Given the description of an element on the screen output the (x, y) to click on. 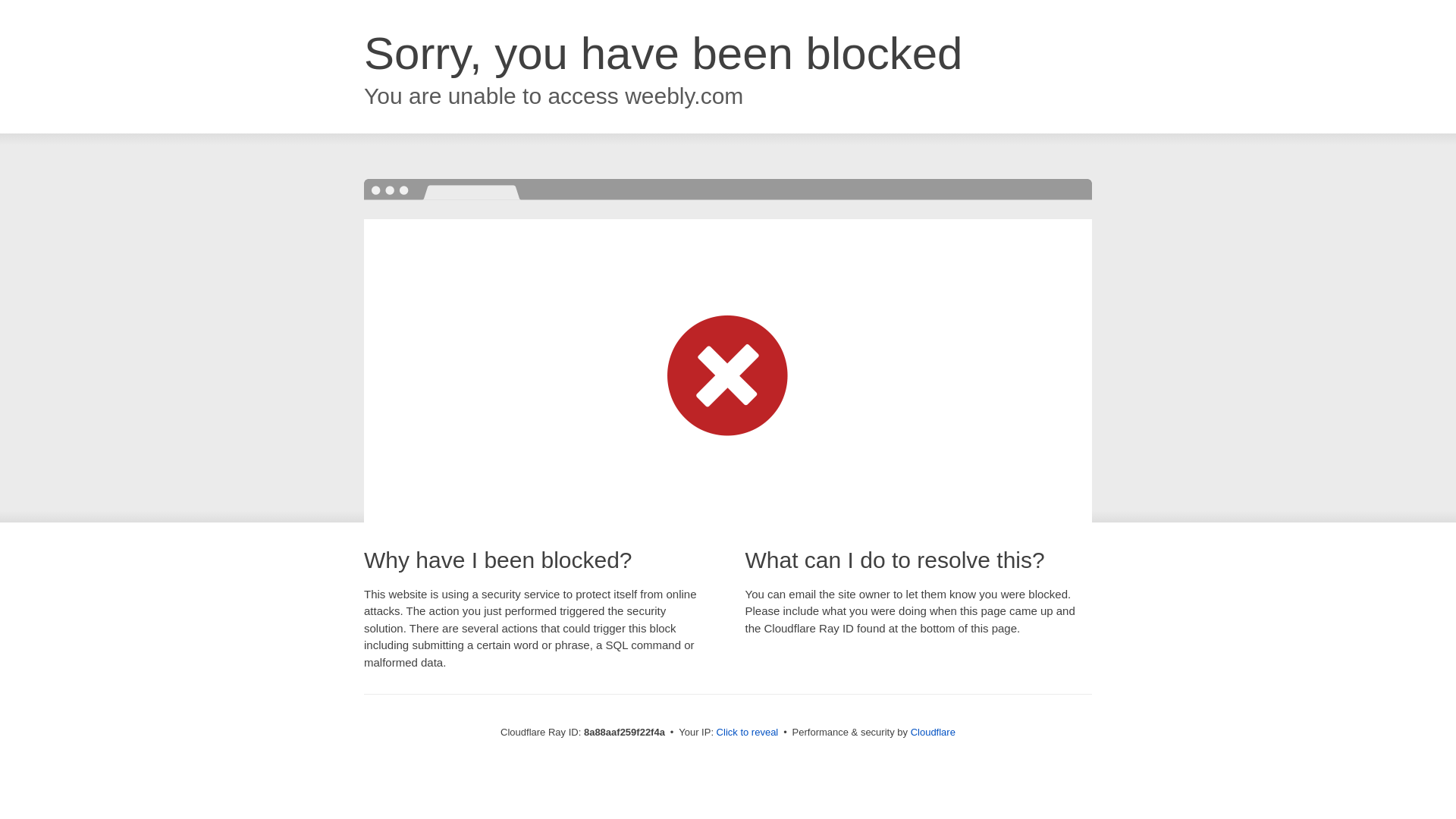
Cloudflare (933, 731)
Click to reveal (747, 732)
